Given the description of an element on the screen output the (x, y) to click on. 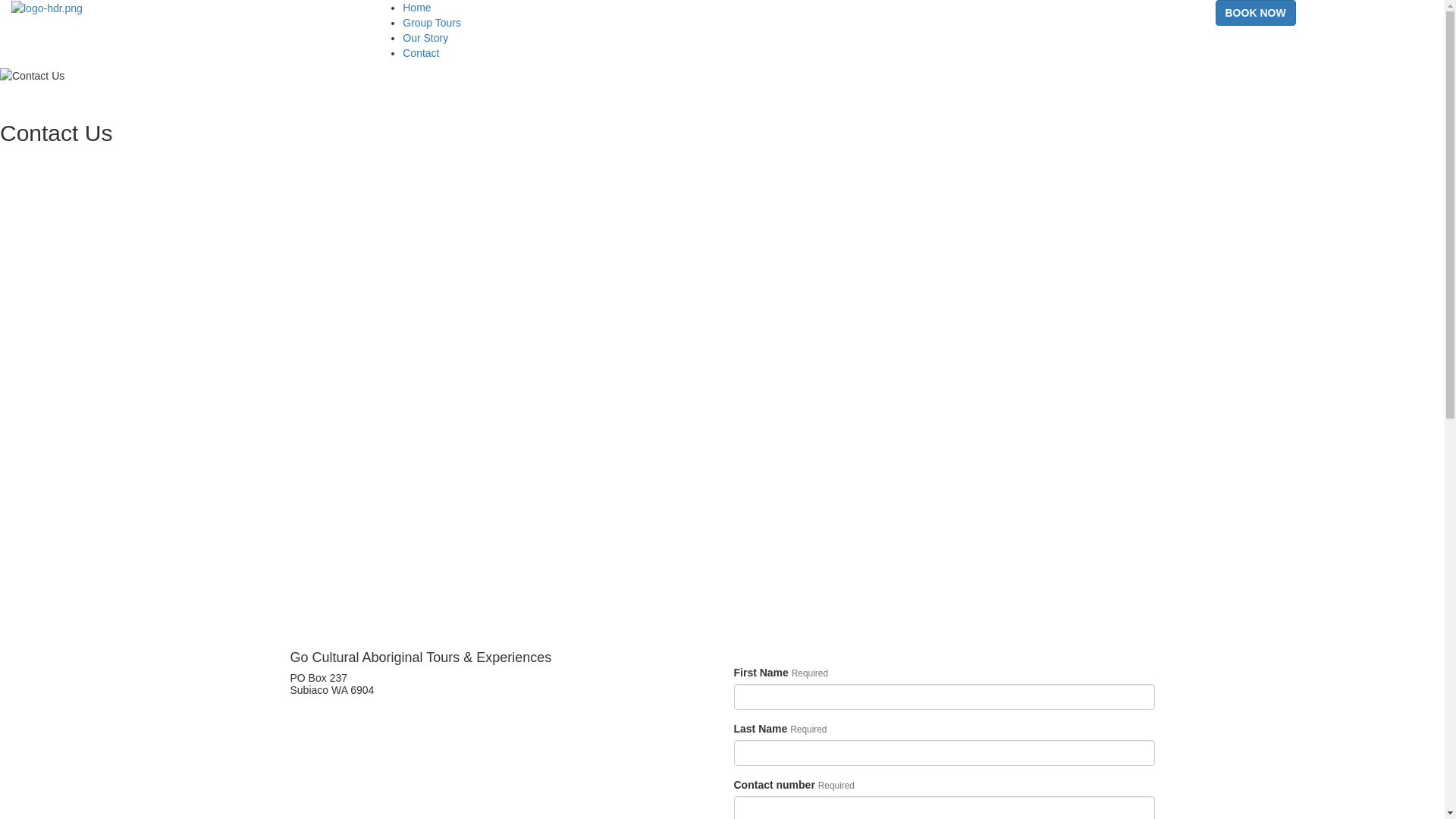
Home Element type: text (416, 7)
Our Story Element type: text (425, 37)
Contact Element type: text (420, 53)
BOOK NOW Element type: text (1254, 12)
Group Tours Element type: text (431, 22)
